Given the description of an element on the screen output the (x, y) to click on. 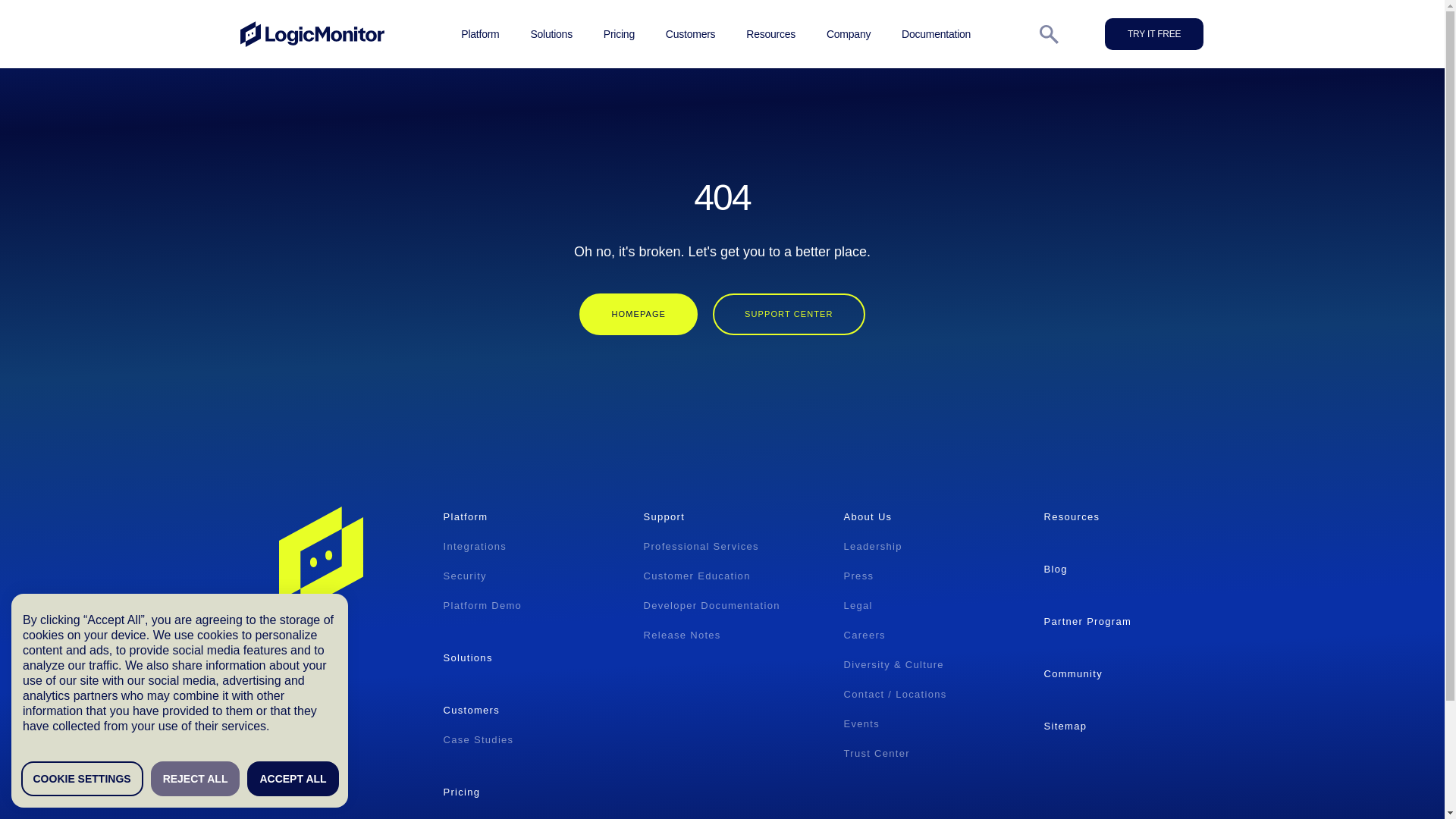
Documentation (936, 33)
Solutions (550, 33)
Customers (690, 33)
Pricing (619, 33)
Resources (769, 33)
Platform (480, 33)
TRY IT FREE (1154, 33)
Company (848, 33)
